Given the description of an element on the screen output the (x, y) to click on. 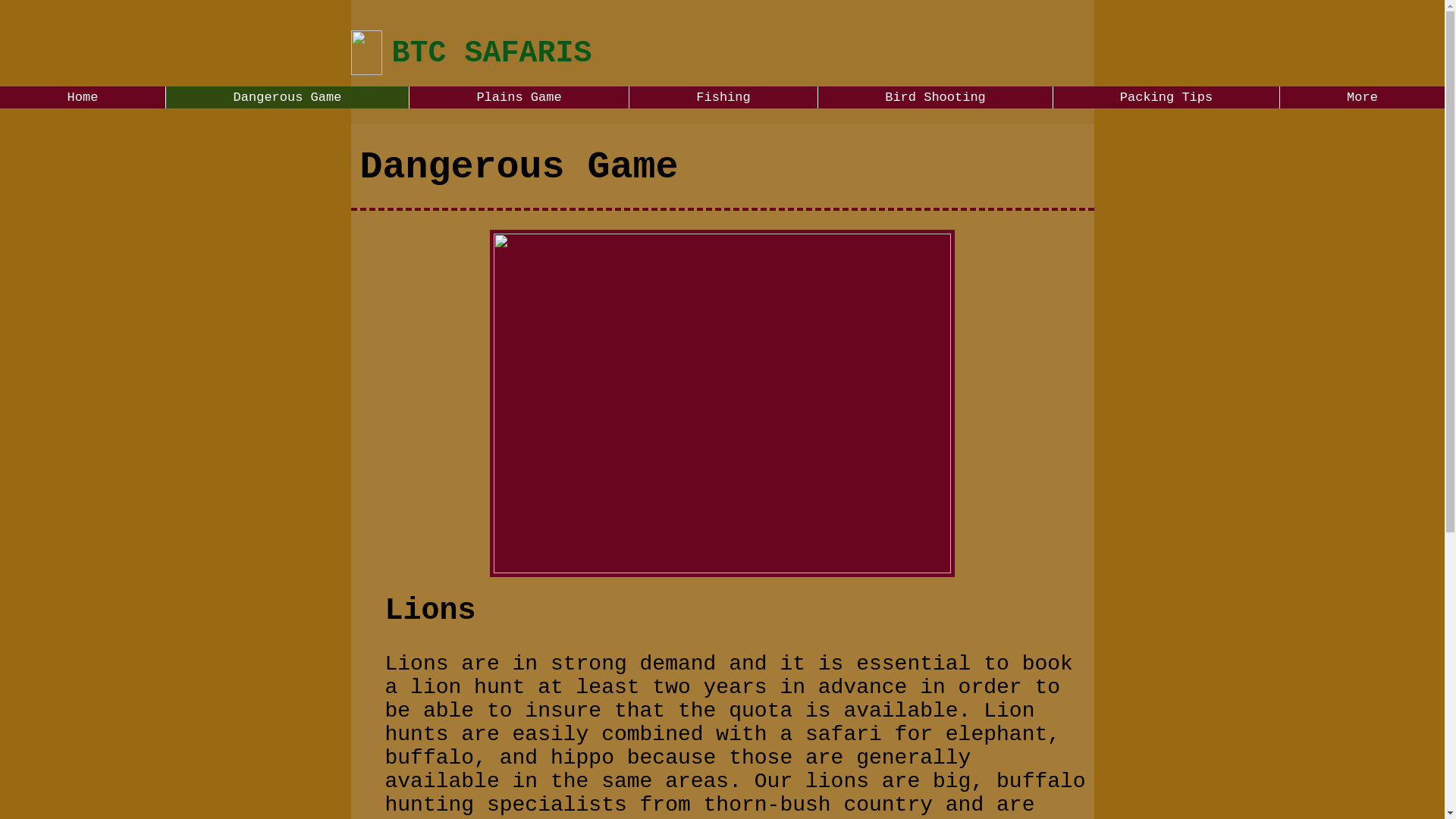
Home (82, 97)
Bird Shooting (934, 97)
Fishing (722, 97)
Packing Tips (1165, 97)
BTC SAFARIS (491, 53)
Plains Game (518, 97)
Dangerous Game (287, 97)
